Given the description of an element on the screen output the (x, y) to click on. 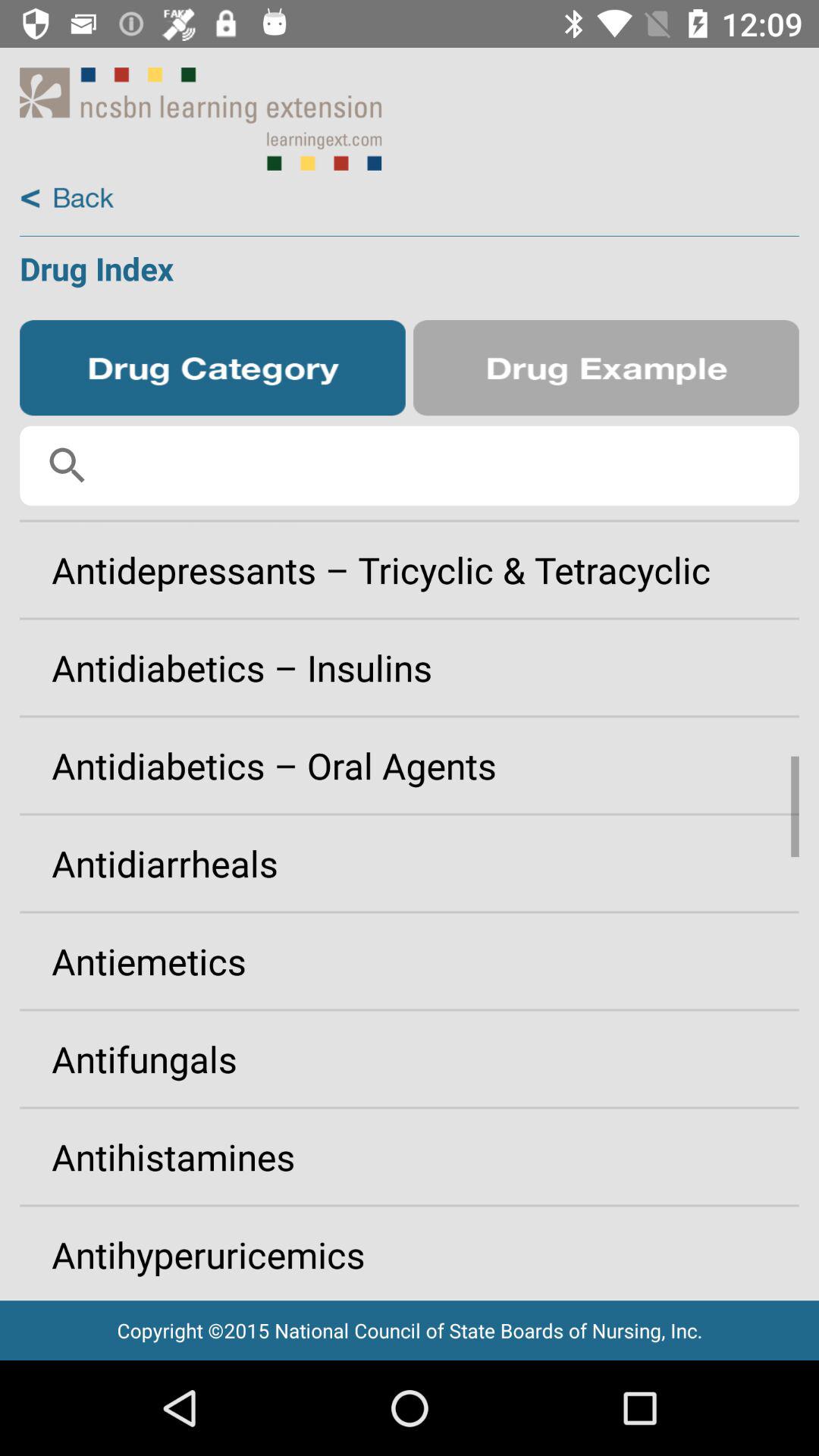
jump to antifungals (409, 1058)
